Given the description of an element on the screen output the (x, y) to click on. 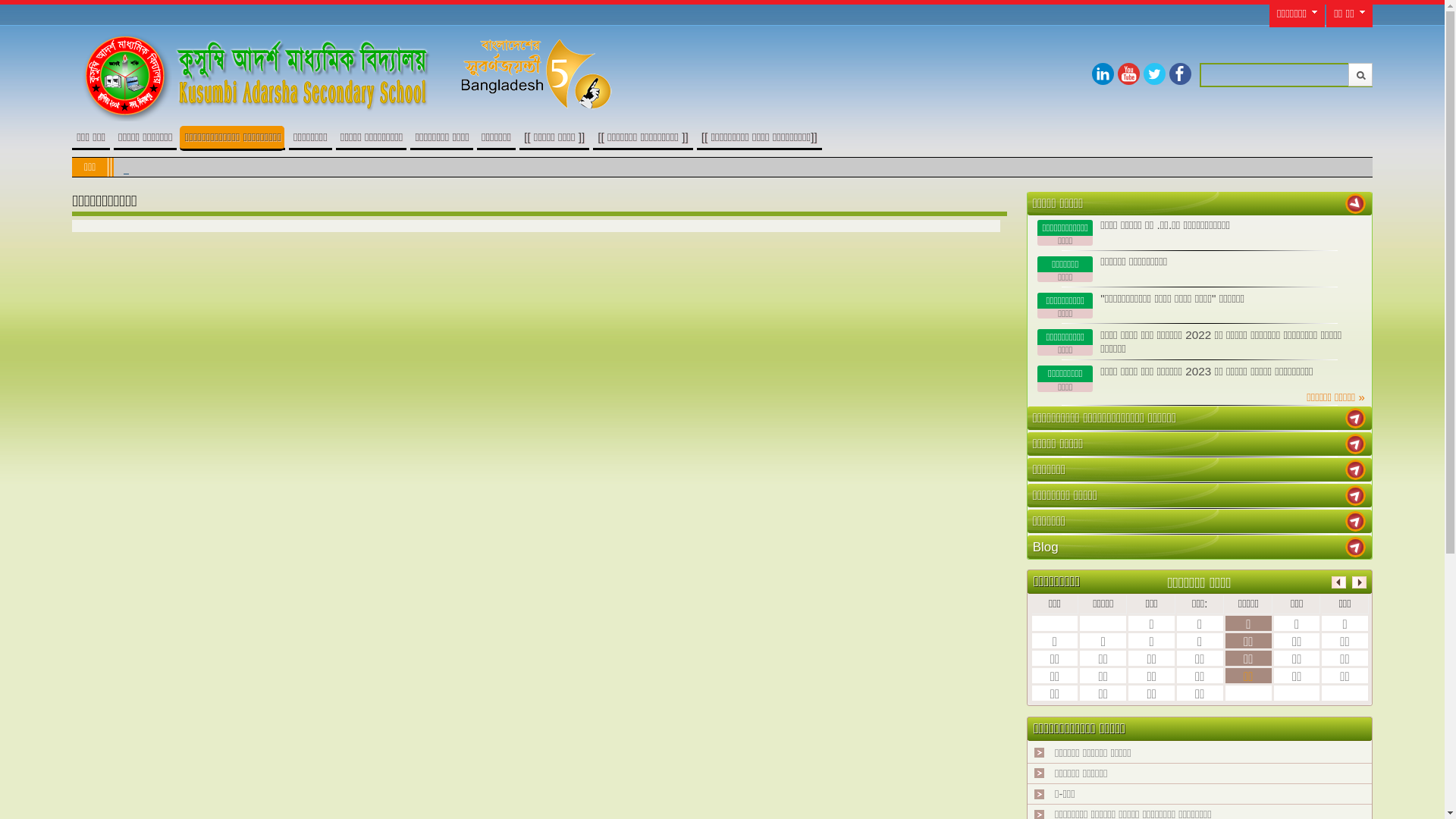
  Element type: text (1355, 417)
  Element type: text (1355, 203)
Submit Element type: text (1360, 74)
  Element type: text (1355, 443)
  Element type: text (1355, 546)
  Element type: text (1355, 469)
  Element type: text (1355, 495)
  Element type: text (1355, 521)
